Given the description of an element on the screen output the (x, y) to click on. 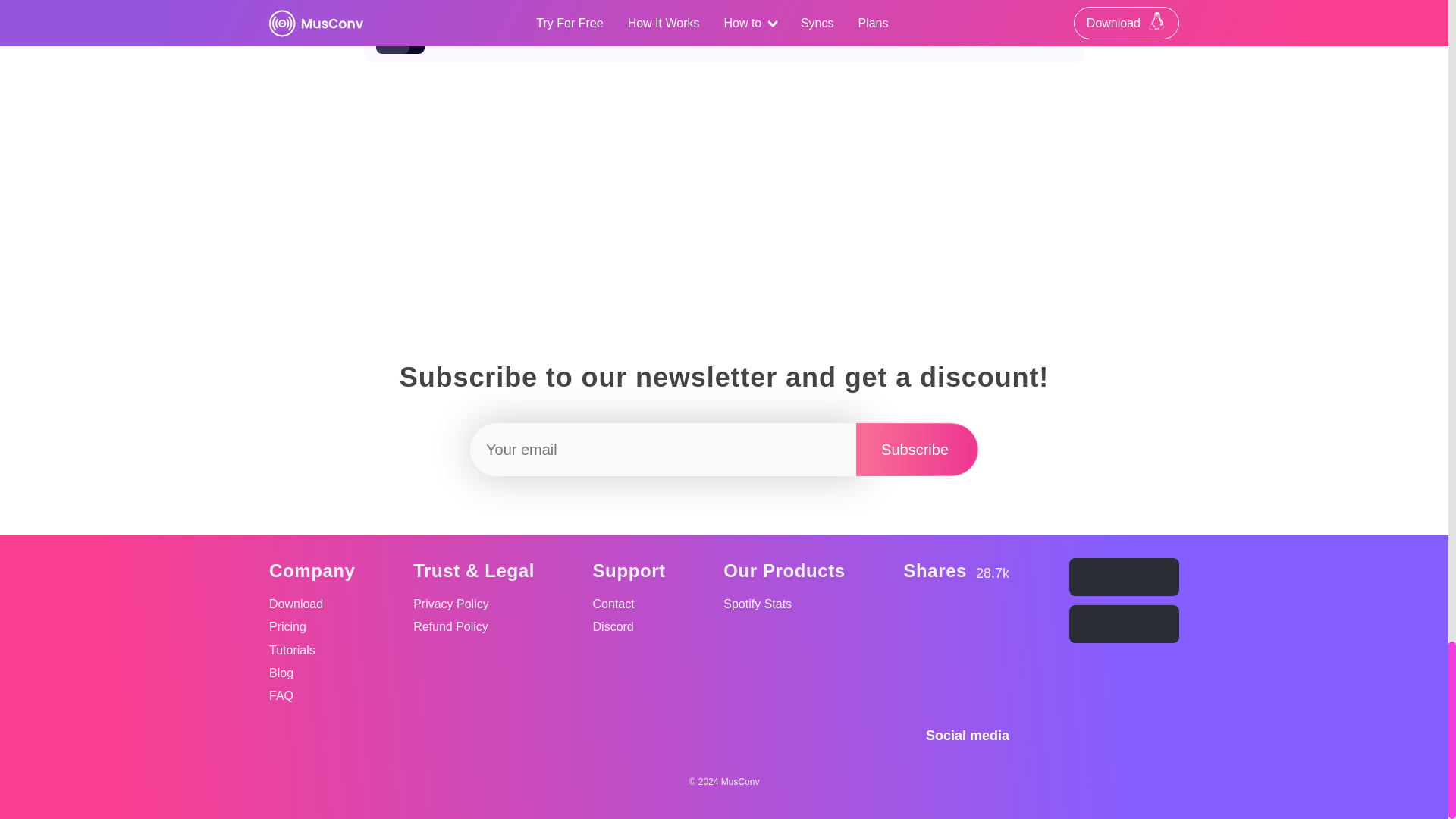
Subscribe (724, 36)
Subscribe (917, 449)
Share on Reddit (917, 449)
Share on Twitter (957, 662)
Share on Email (993, 625)
Share on Facebook (919, 625)
Share on LinkedIn (957, 625)
Share on Pinterest (993, 662)
